Given the description of an element on the screen output the (x, y) to click on. 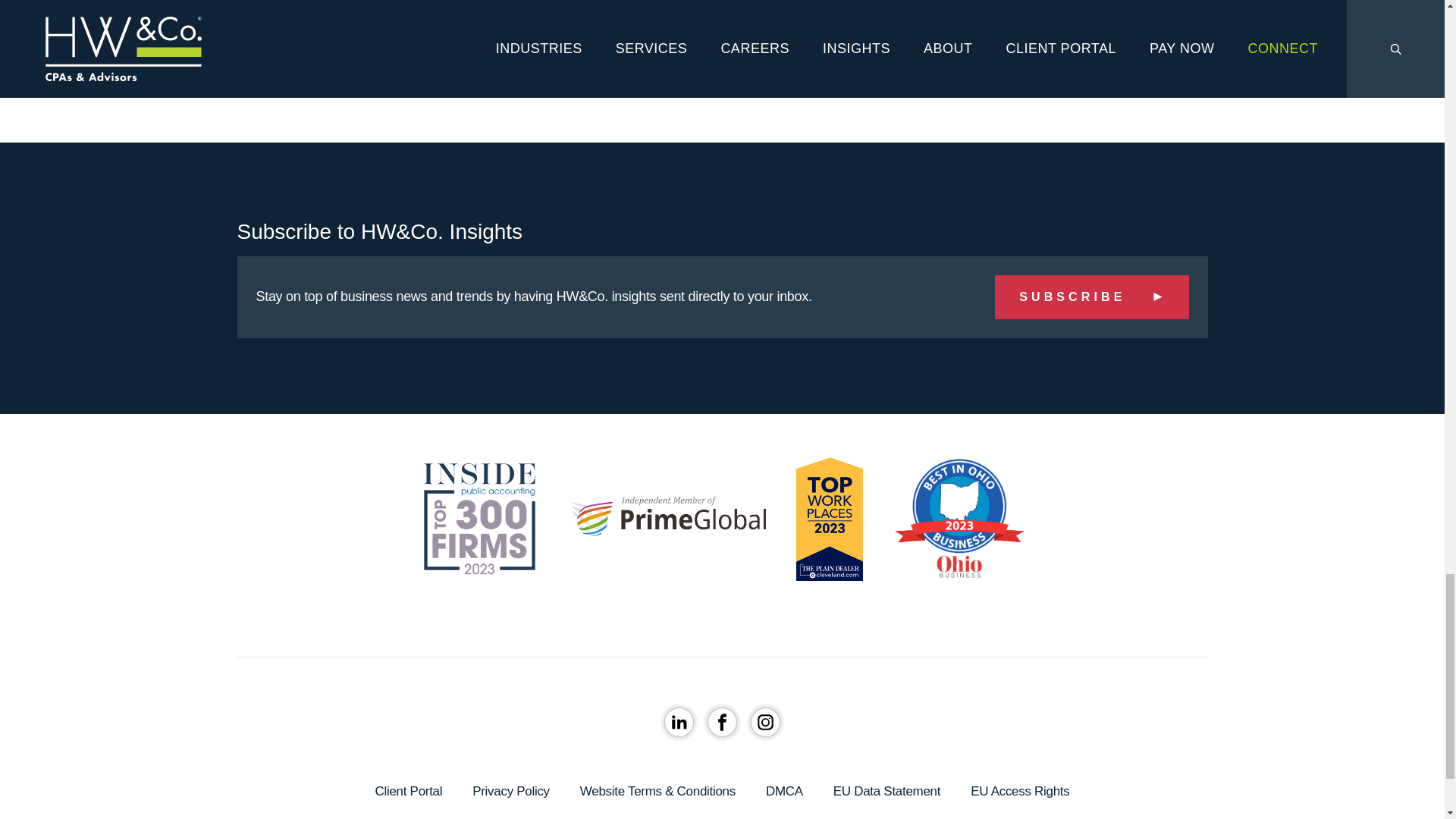
Helen Weeber (562, 39)
